Given the description of an element on the screen output the (x, y) to click on. 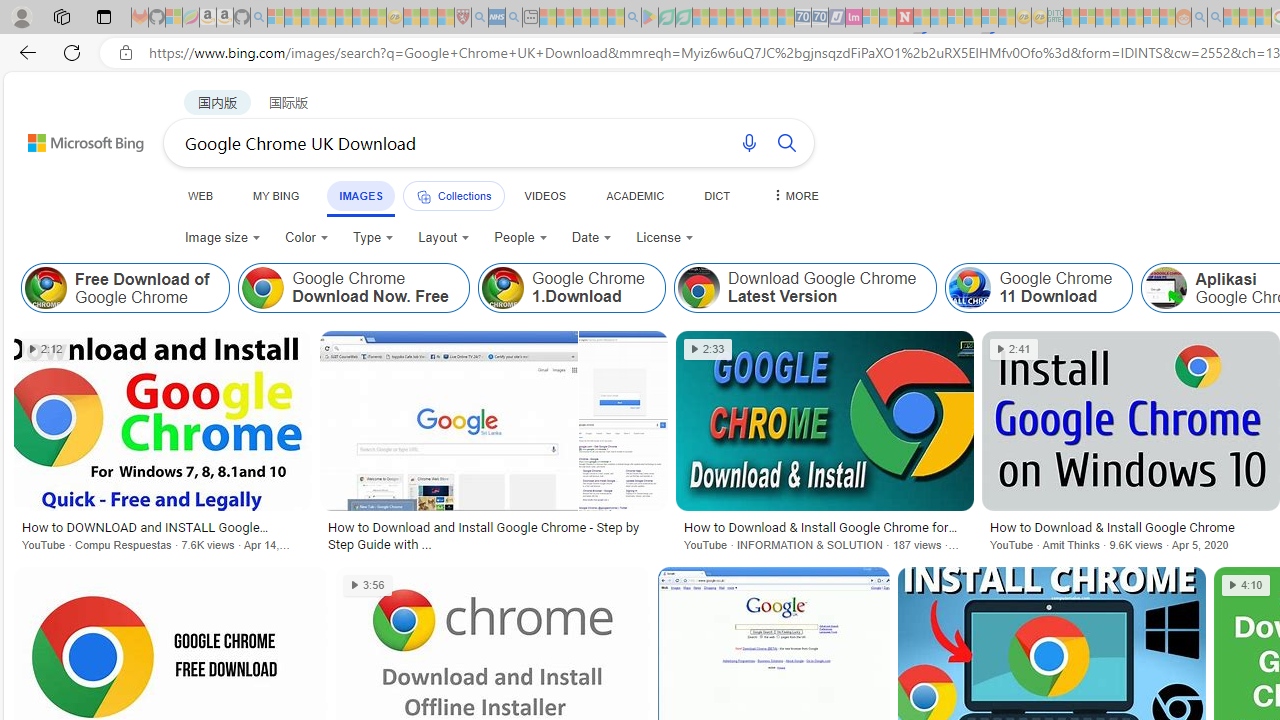
Date (591, 237)
2:41 (1014, 349)
Free Download of Google Chrome (125, 287)
How to Download & Install Google Chrome for Pc (824, 527)
